Given the description of an element on the screen output the (x, y) to click on. 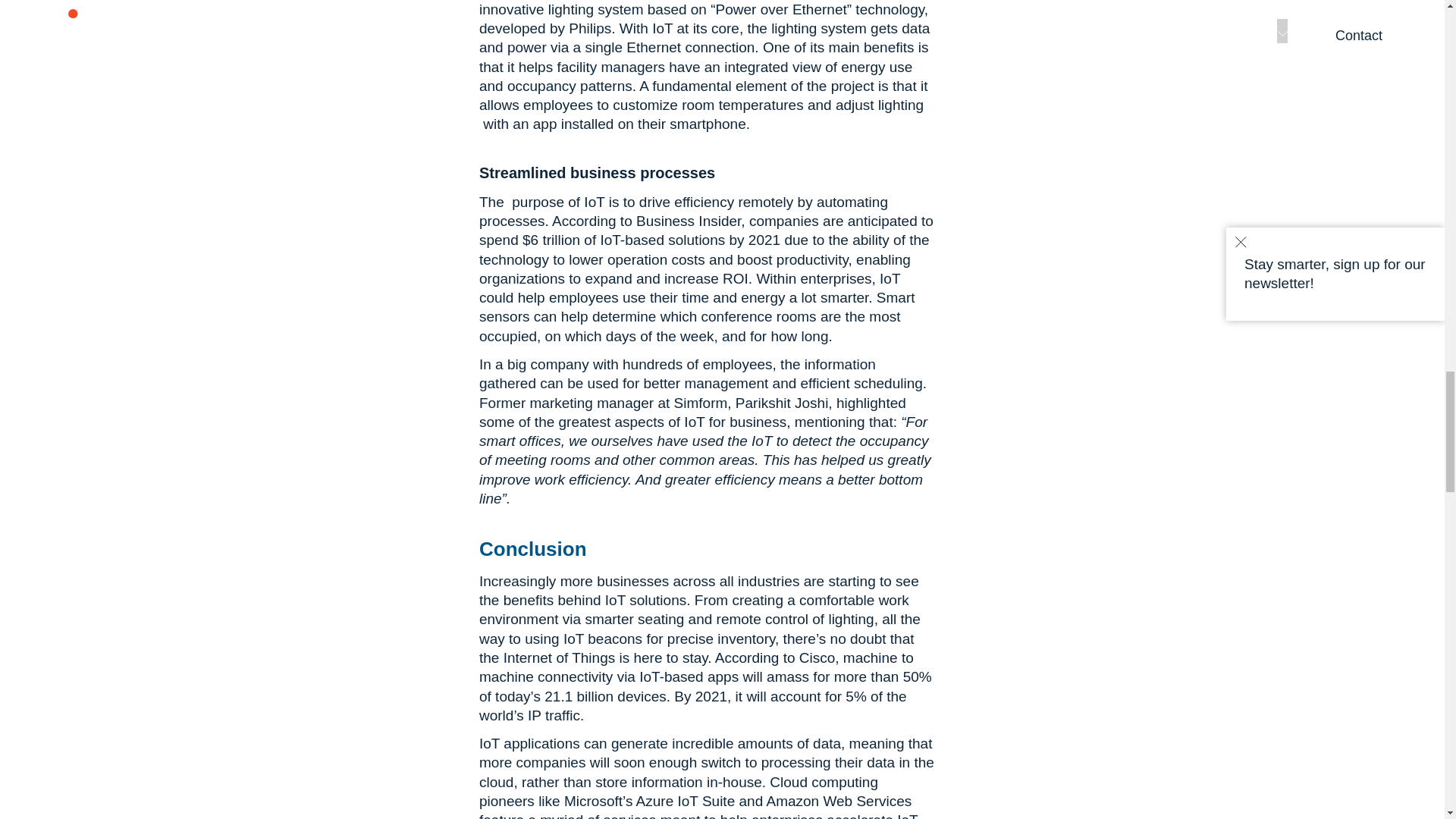
Amazon Web Services (838, 801)
Simform (701, 402)
Philips (590, 28)
According to Business Insider (646, 220)
IoT beacons for precise inventory (668, 638)
According to Cisco (774, 657)
